Given the description of an element on the screen output the (x, y) to click on. 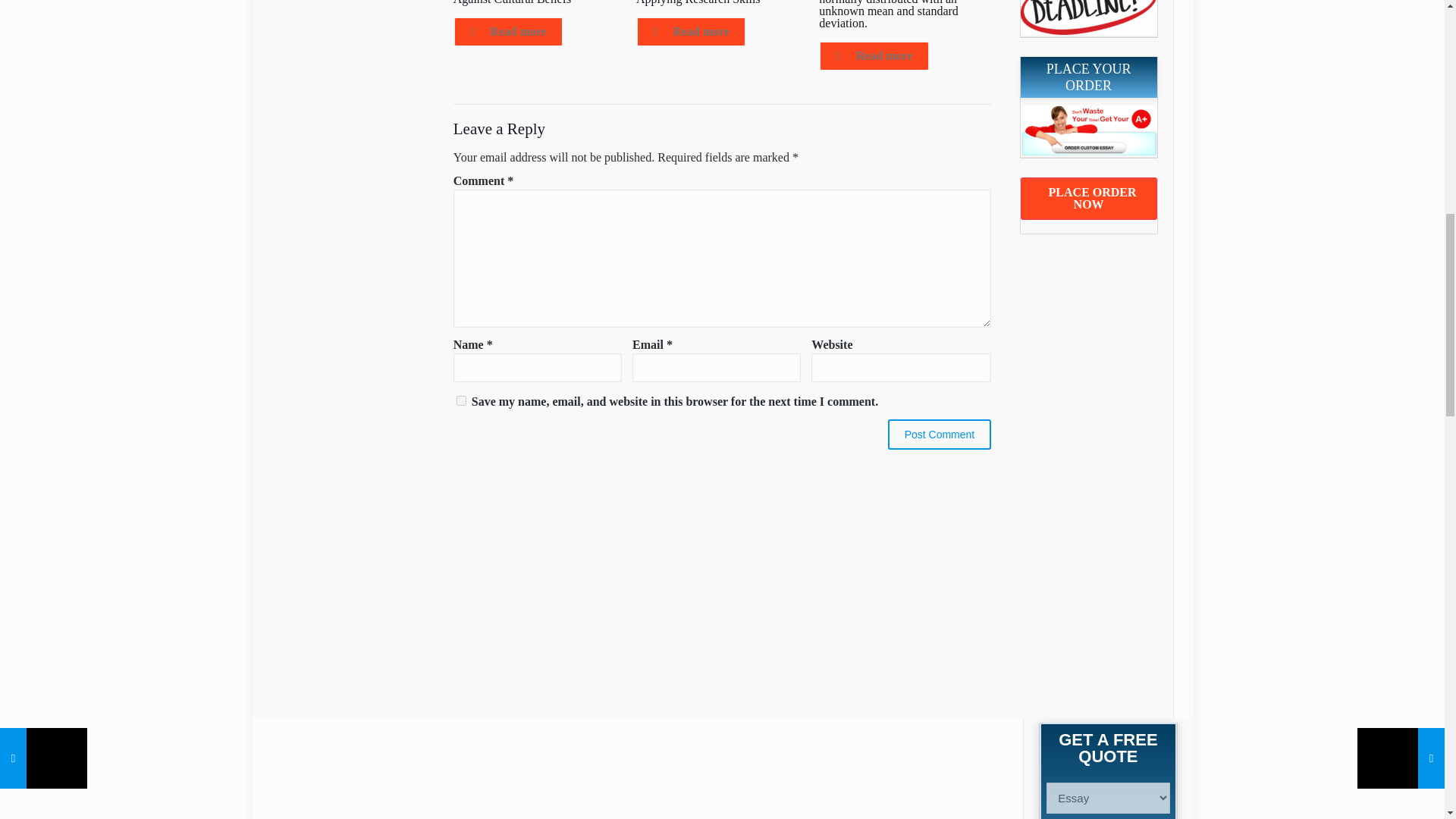
Post Comment (939, 434)
yes (461, 400)
